Given the description of an element on the screen output the (x, y) to click on. 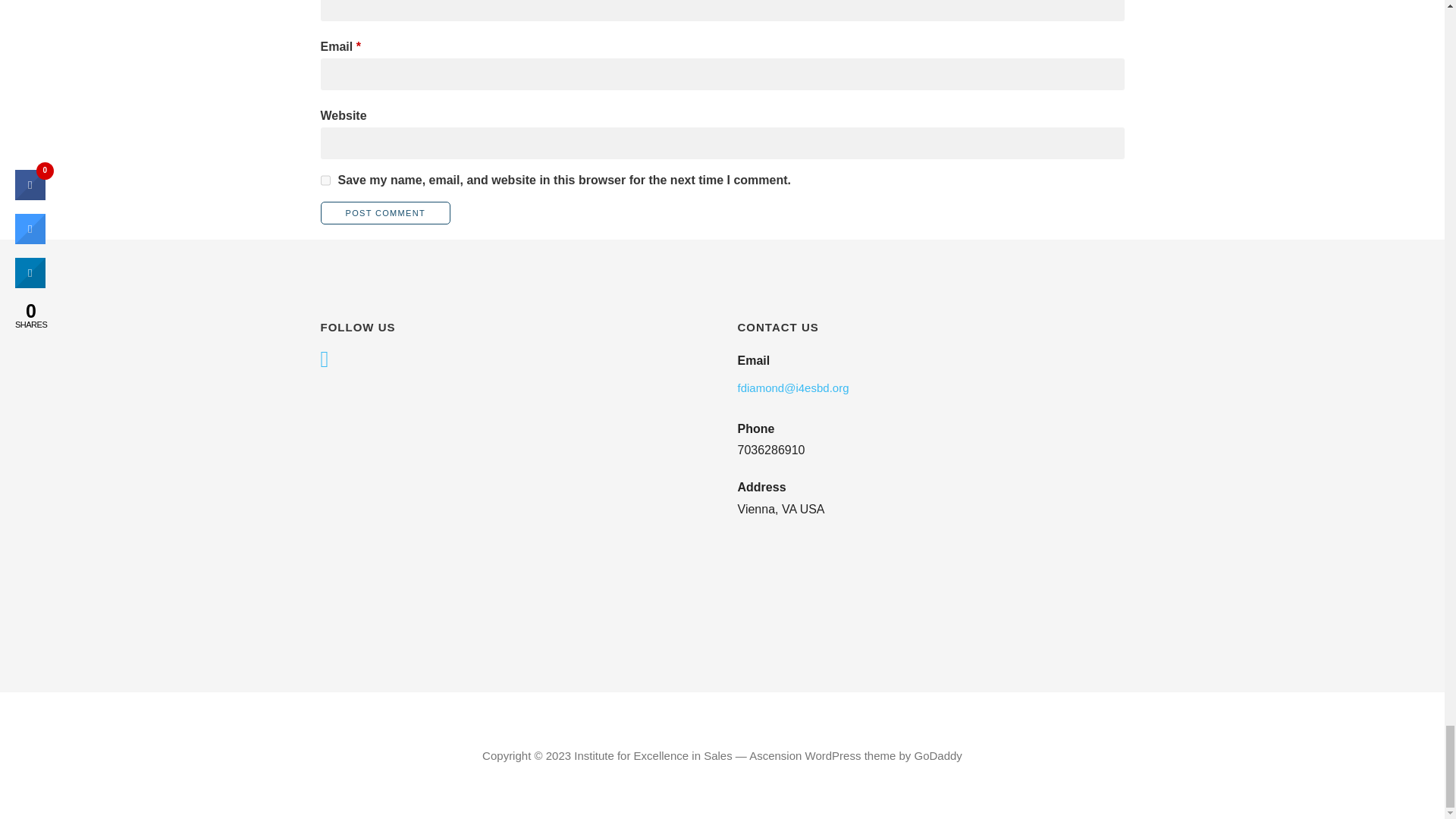
Post Comment (384, 212)
Post Comment (384, 212)
GoDaddy (938, 755)
